Given the description of an element on the screen output the (x, y) to click on. 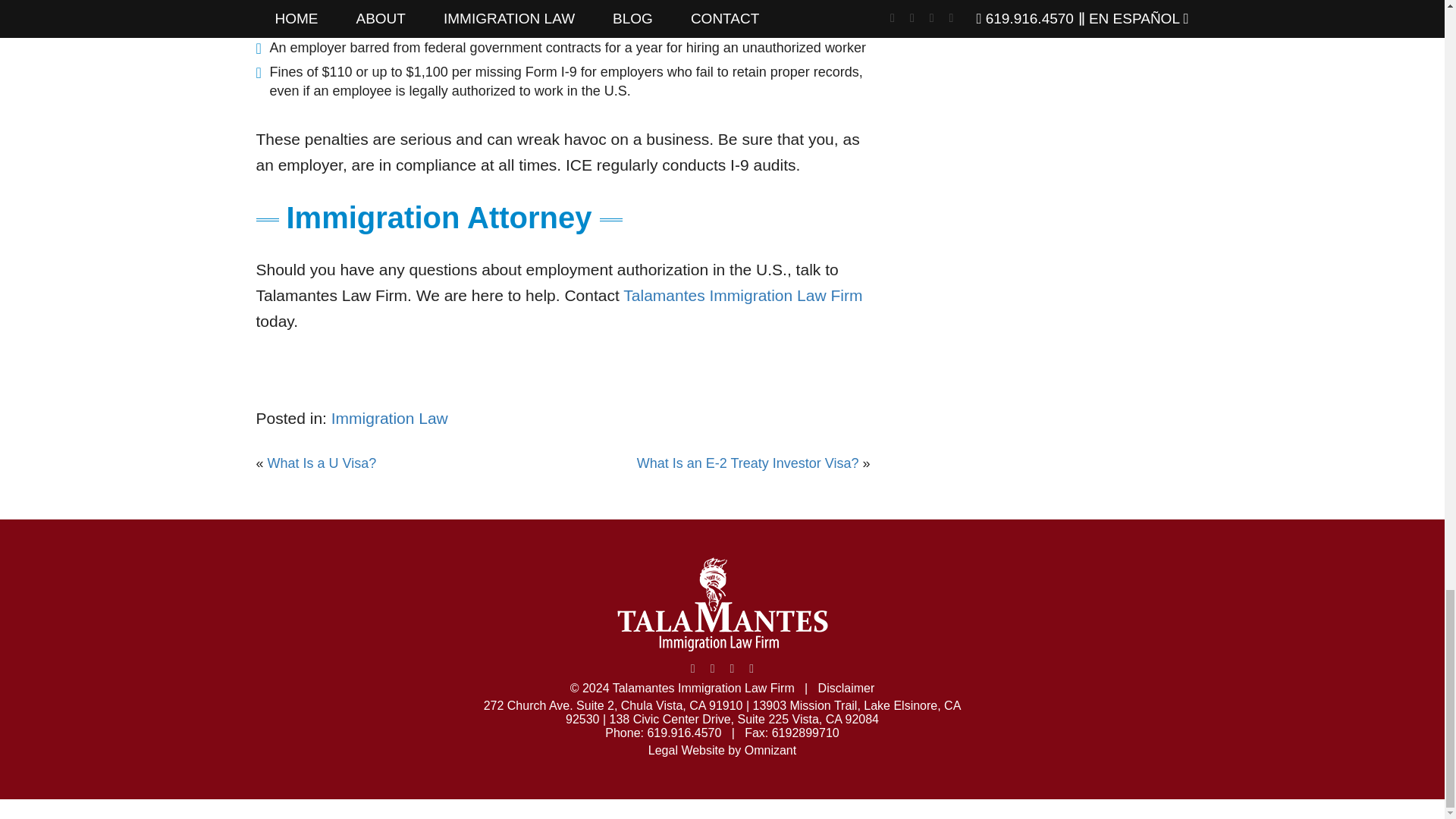
Talamantes Immigration Law Firm (742, 294)
What Is a U Visa? (322, 462)
Immigration Law (389, 417)
What Is an E-2 Treaty Investor Visa? (748, 462)
